Given the description of an element on the screen output the (x, y) to click on. 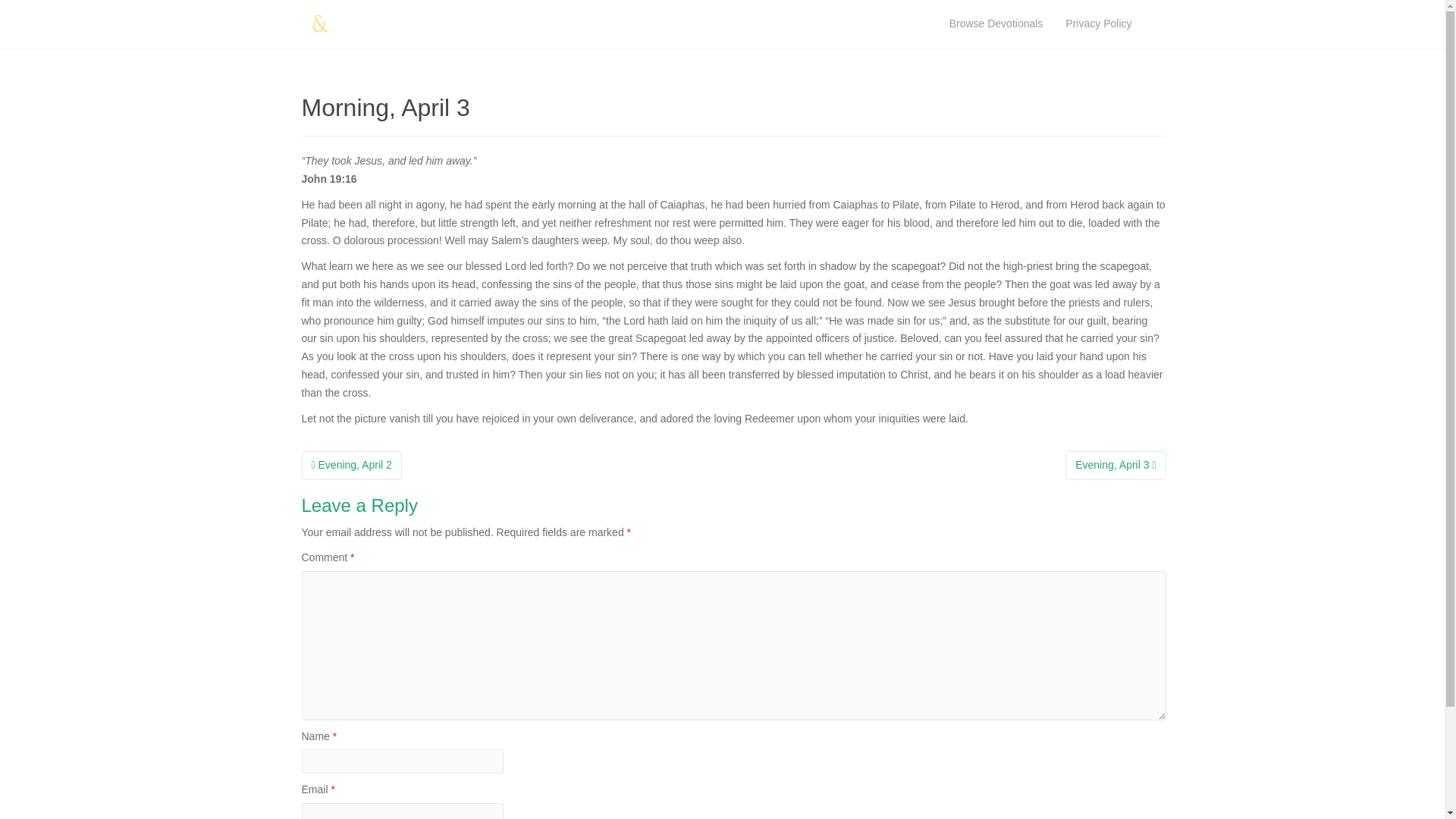
Evening, April 2 (351, 465)
Browse Devotionals (995, 24)
Privacy Policy (1098, 24)
Evening, April 3 (1115, 465)
Privacy Policy (1098, 24)
Browse Devotionals (995, 24)
